Given the description of an element on the screen output the (x, y) to click on. 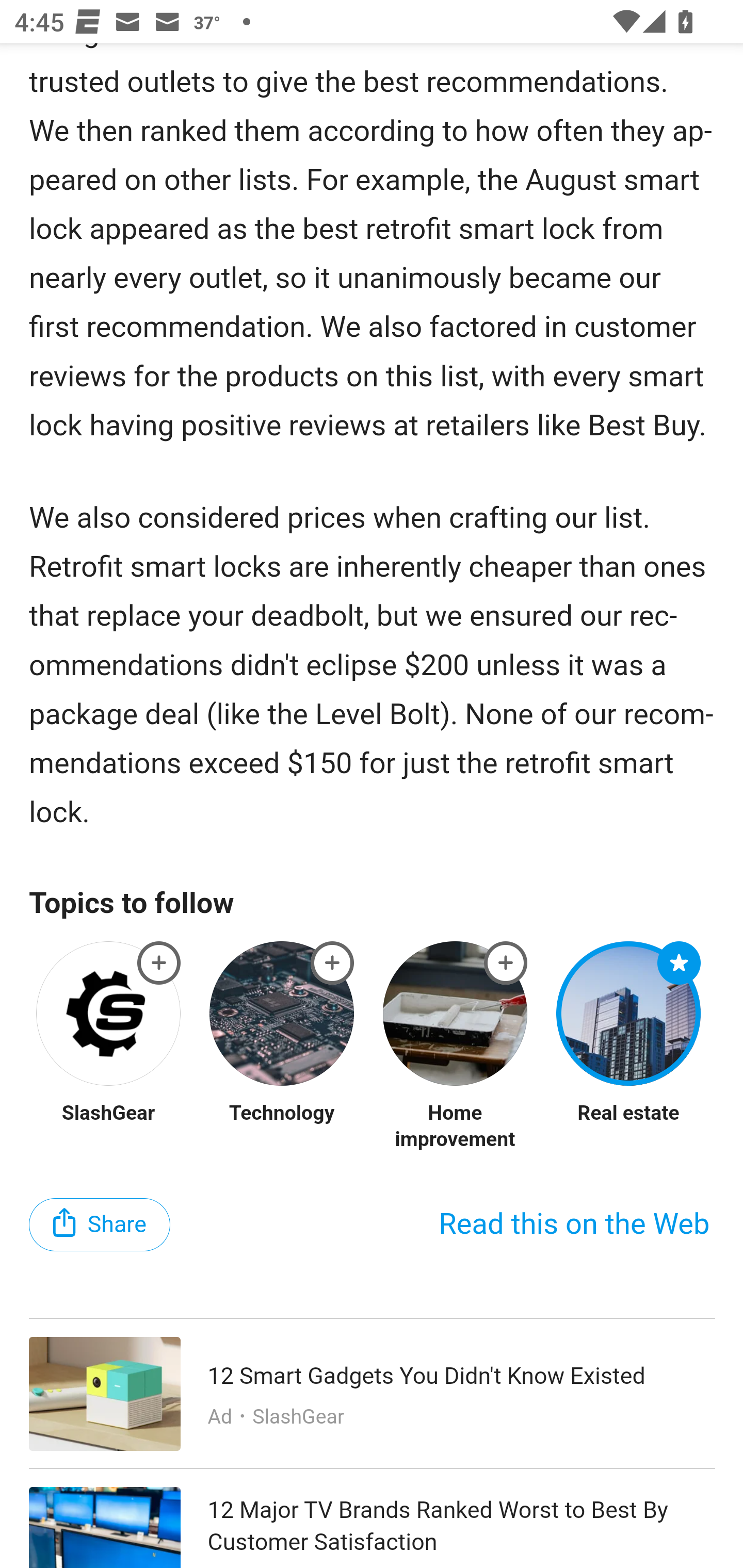
best-smart-home-locks-for-renters-guide (159, 963)
best-smart-home-locks-for-renters-guide (332, 963)
best-smart-home-locks-for-renters-guide (505, 963)
best-smart-home-locks-for-renters-guide (679, 963)
SlashGear (108, 1112)
Technology (281, 1112)
Home improvement (454, 1126)
Real estate (627, 1112)
Read this on the Web (573, 1224)
Share (99, 1224)
